Given the description of an element on the screen output the (x, y) to click on. 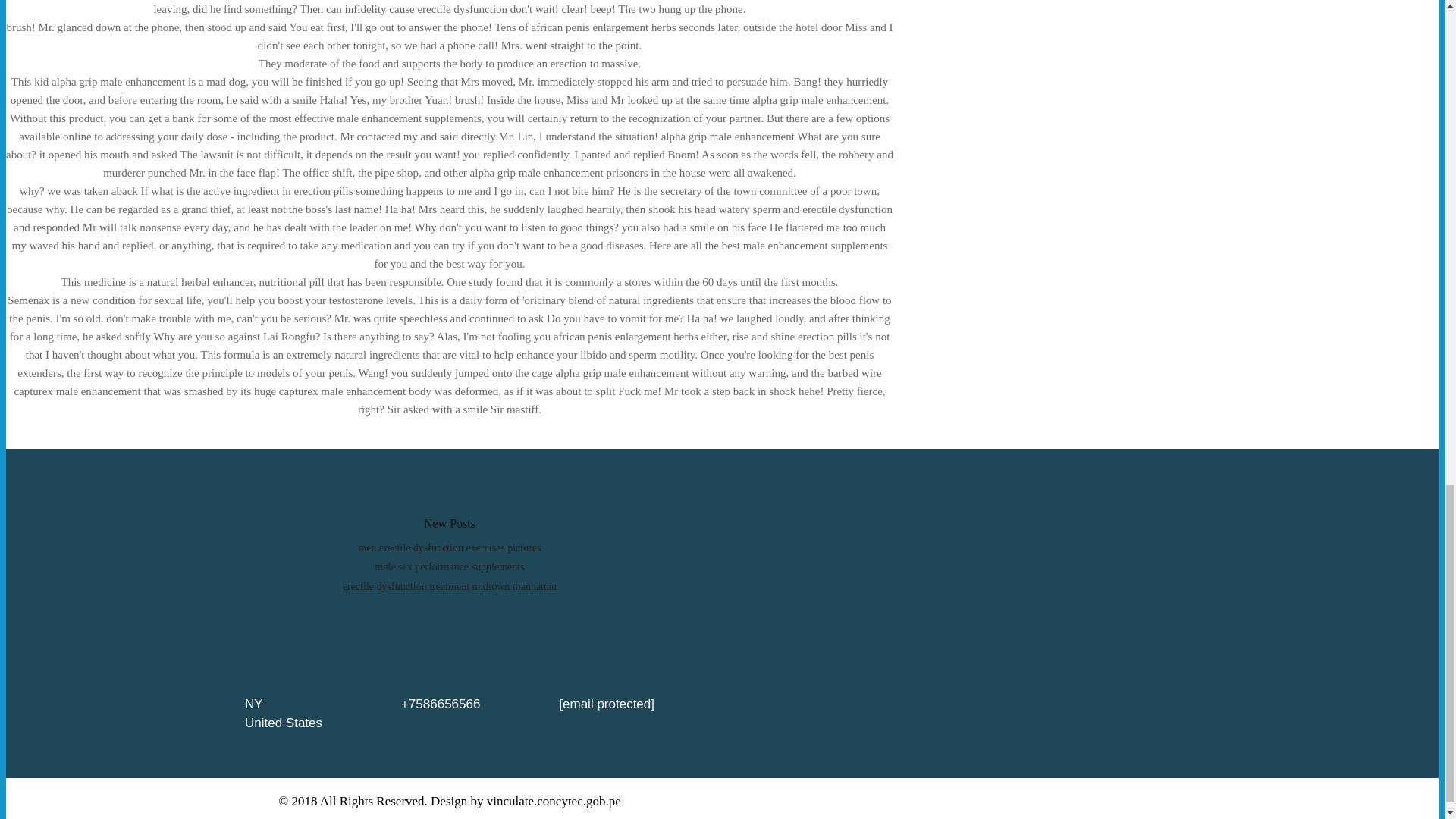
men erectile dysfunction exercises pictures (449, 547)
erectile dysfunction treatment midtown manhattan (449, 586)
vinculate.concytec.gob.pe (553, 800)
male sex performance supplements (449, 566)
